Given the description of an element on the screen output the (x, y) to click on. 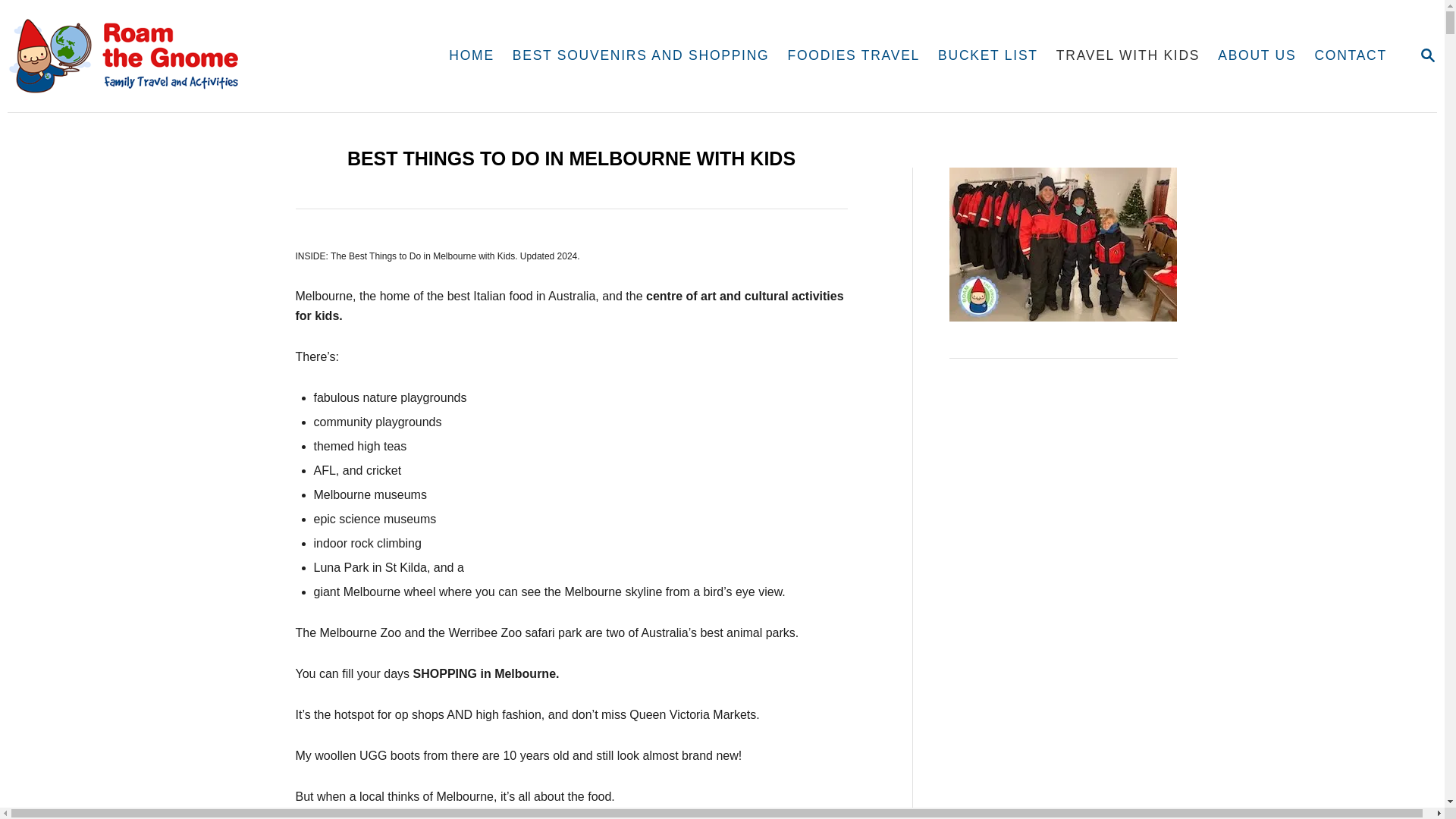
BEST SOUVENIRS AND SHOPPING (640, 55)
FOODIES TRAVEL (852, 55)
MAGNIFYING GLASS (1427, 54)
ABOUT US (1256, 55)
HOME (471, 55)
BUCKET LIST (987, 55)
Roam the Gnome (205, 56)
CONTACT (1350, 55)
TRAVEL WITH KIDS (1127, 55)
